Given the description of an element on the screen output the (x, y) to click on. 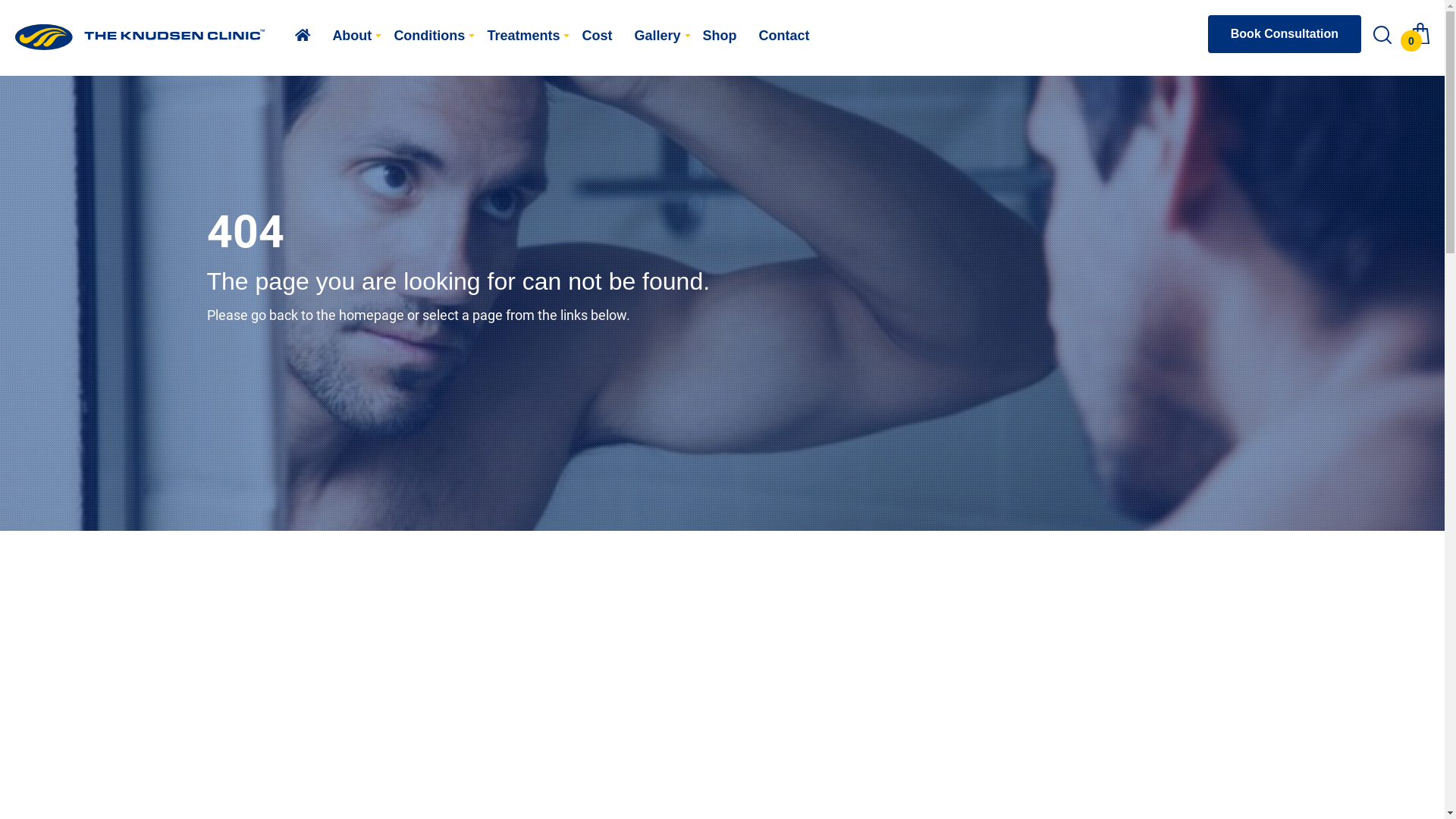
Gallery Element type: text (656, 35)
Shop Element type: text (719, 35)
Conditions Element type: text (428, 35)
Treatments Element type: text (523, 35)
About Element type: text (351, 35)
Book Consultation Element type: text (1284, 34)
Cost Element type: text (596, 35)
0 Element type: text (1420, 39)
Contact Element type: text (784, 35)
